Given the description of an element on the screen output the (x, y) to click on. 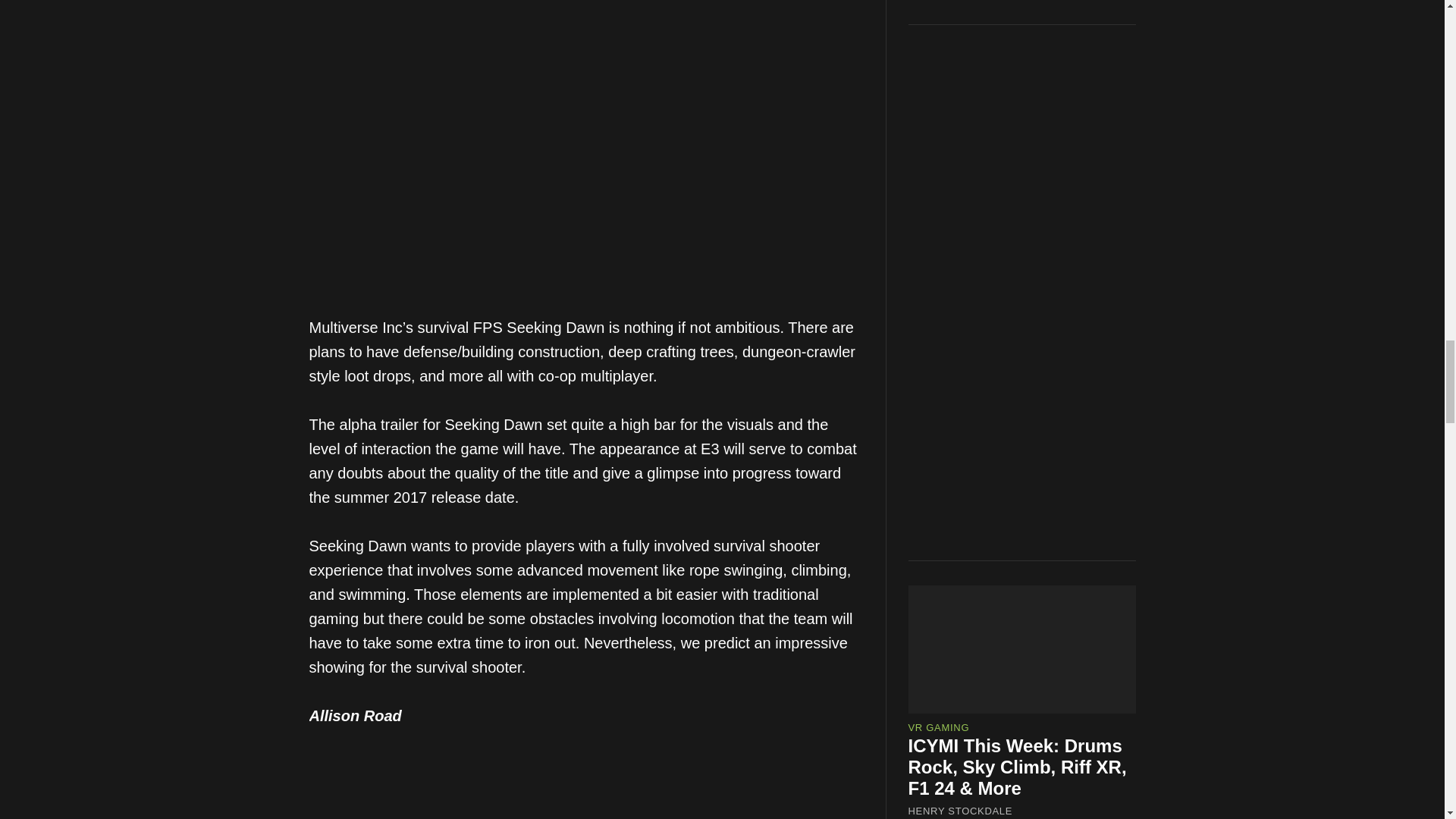
Allison Road - Prototype Gameplay (585, 797)
